Given the description of an element on the screen output the (x, y) to click on. 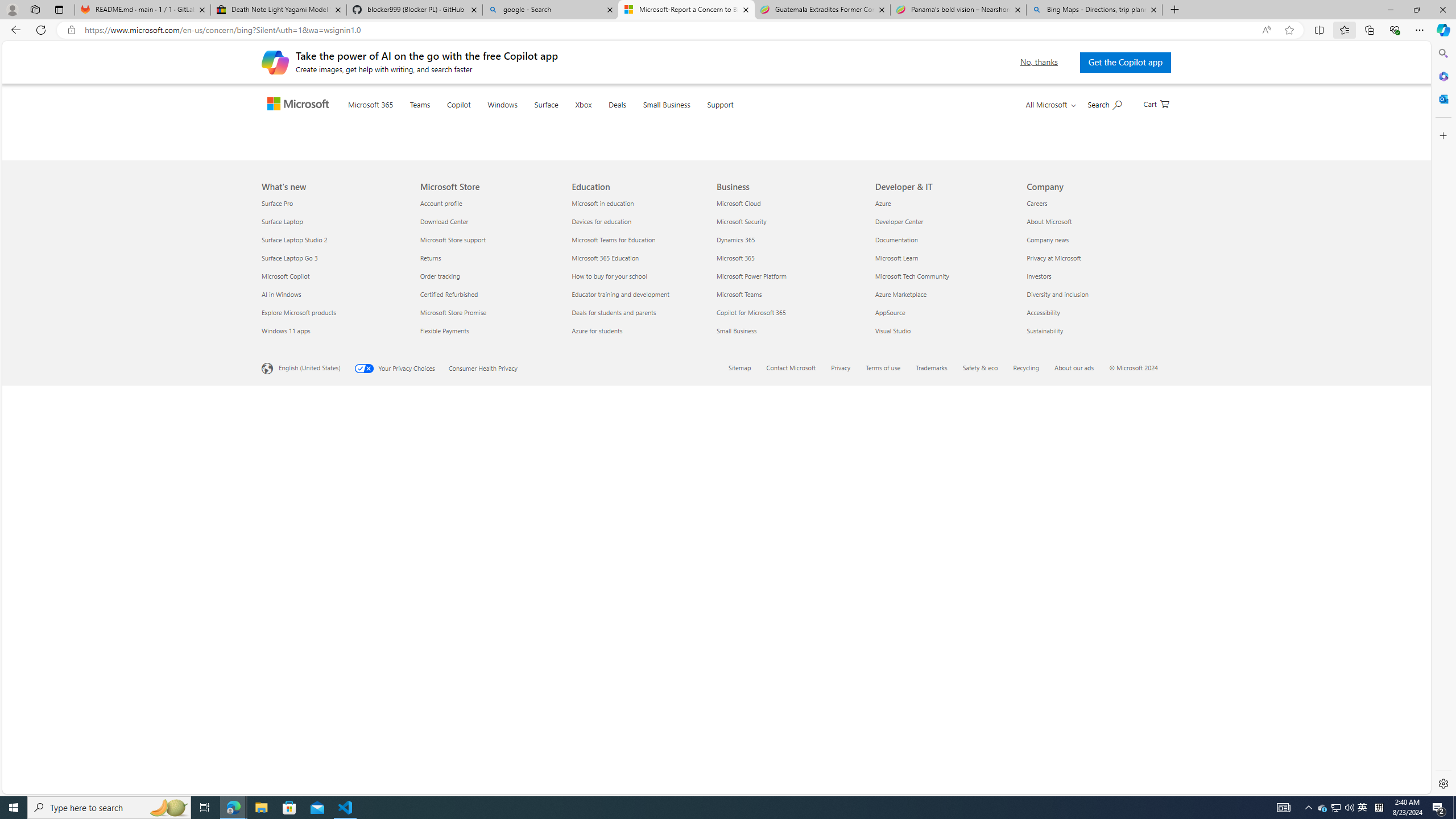
Certified Refurbished Microsoft Store (449, 693)
Surface Laptop Go 3 (334, 657)
Explore Microsoft products (334, 712)
Surface (568, 118)
Azure Marketplace (944, 694)
Surface Pro What's new (278, 602)
Surface (568, 118)
Windows 11 apps What's new (286, 730)
Copilot (481, 118)
